Given the description of an element on the screen output the (x, y) to click on. 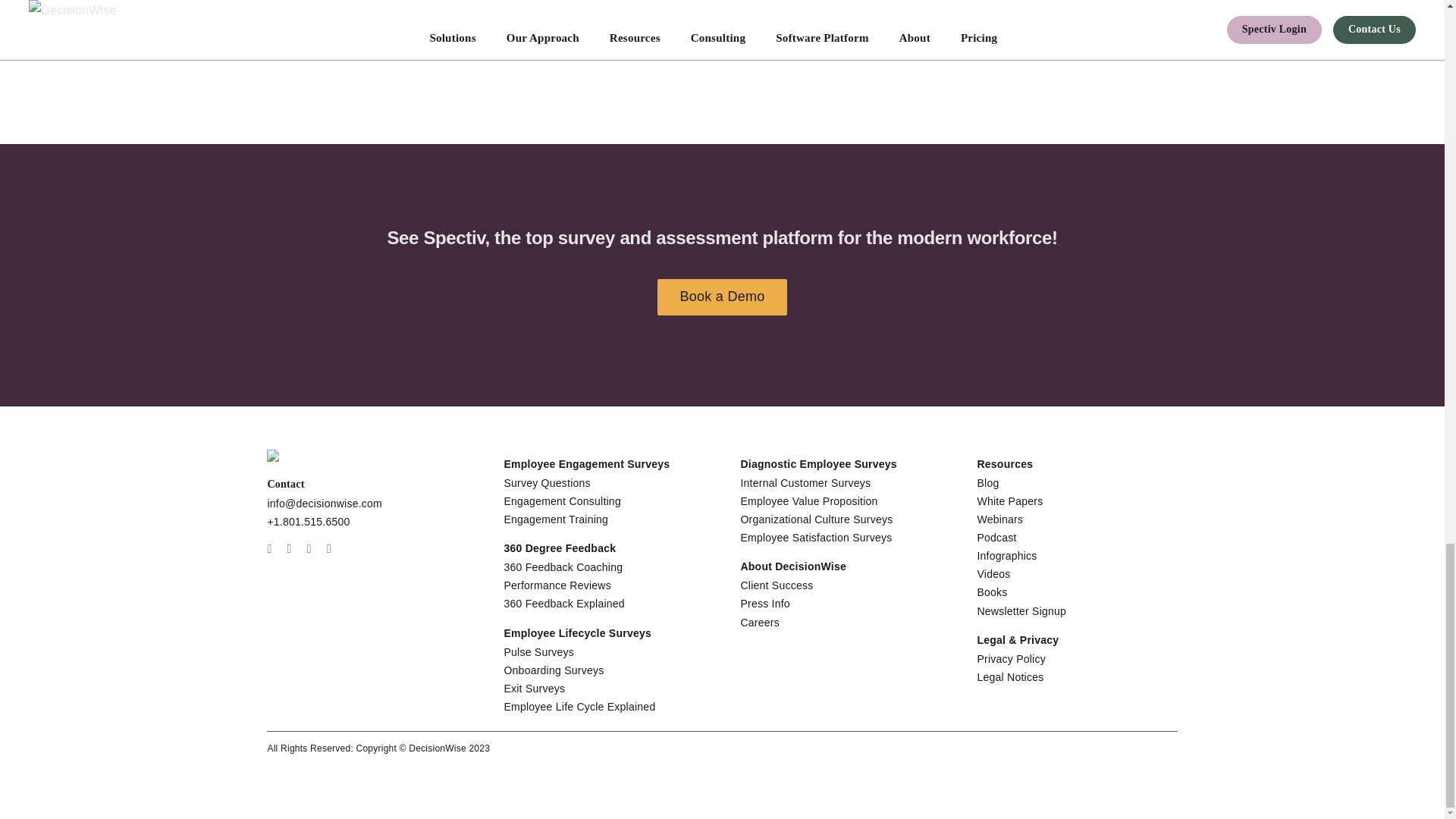
decisionwise-logo-dark (310, 455)
Prescriptive Recommendations (958, 43)
